Given the description of an element on the screen output the (x, y) to click on. 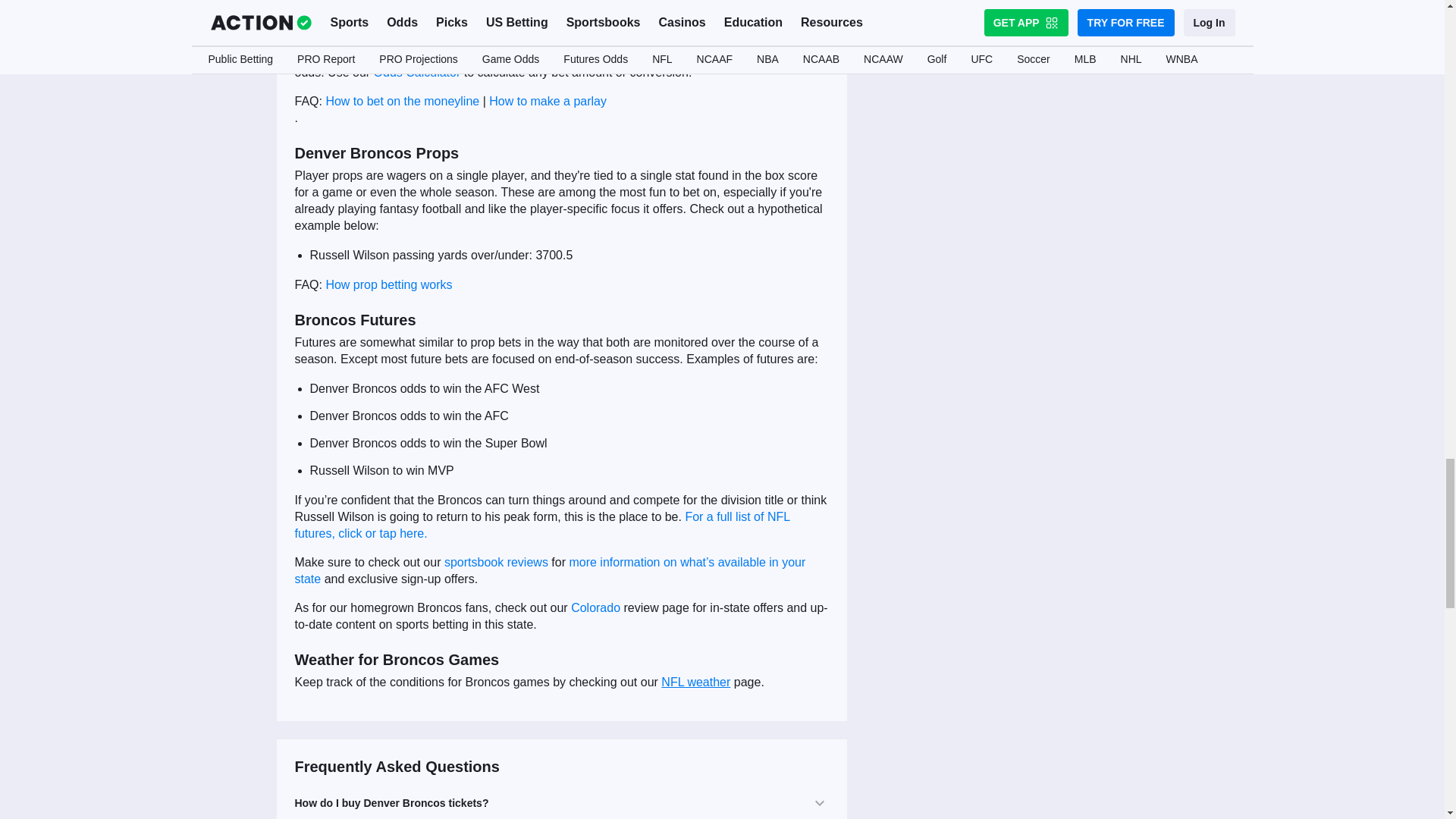
How to bet on the moneyline (401, 101)
Odds Calculator (414, 72)
